Given the description of an element on the screen output the (x, y) to click on. 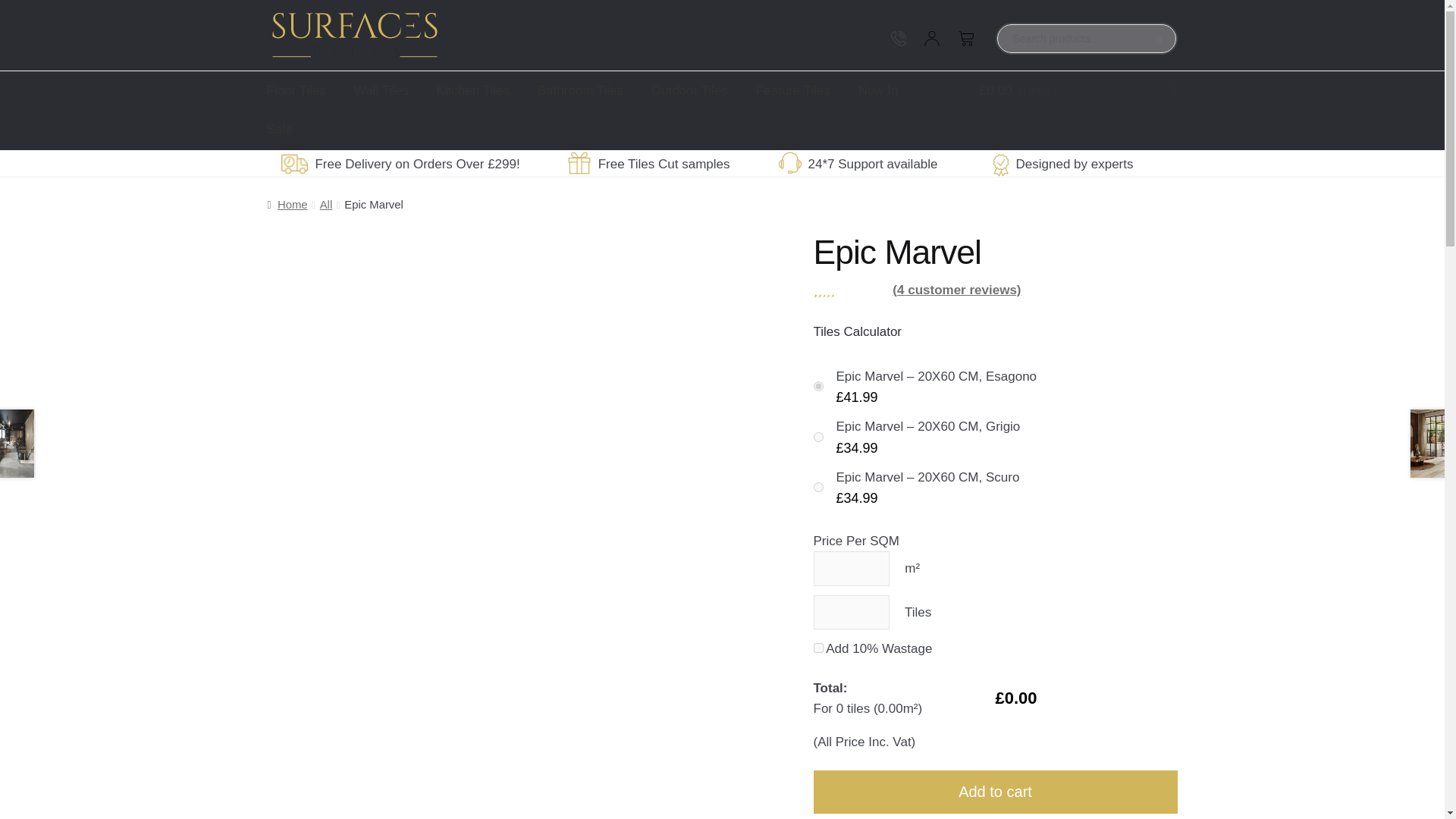
on (817, 386)
New In (878, 90)
on (817, 487)
Add to cart (994, 792)
Tiles Calculator (856, 331)
Trade account (864, 38)
Feature Tiles (793, 90)
Home (286, 204)
Kitchen Tiles (473, 90)
